Given the description of an element on the screen output the (x, y) to click on. 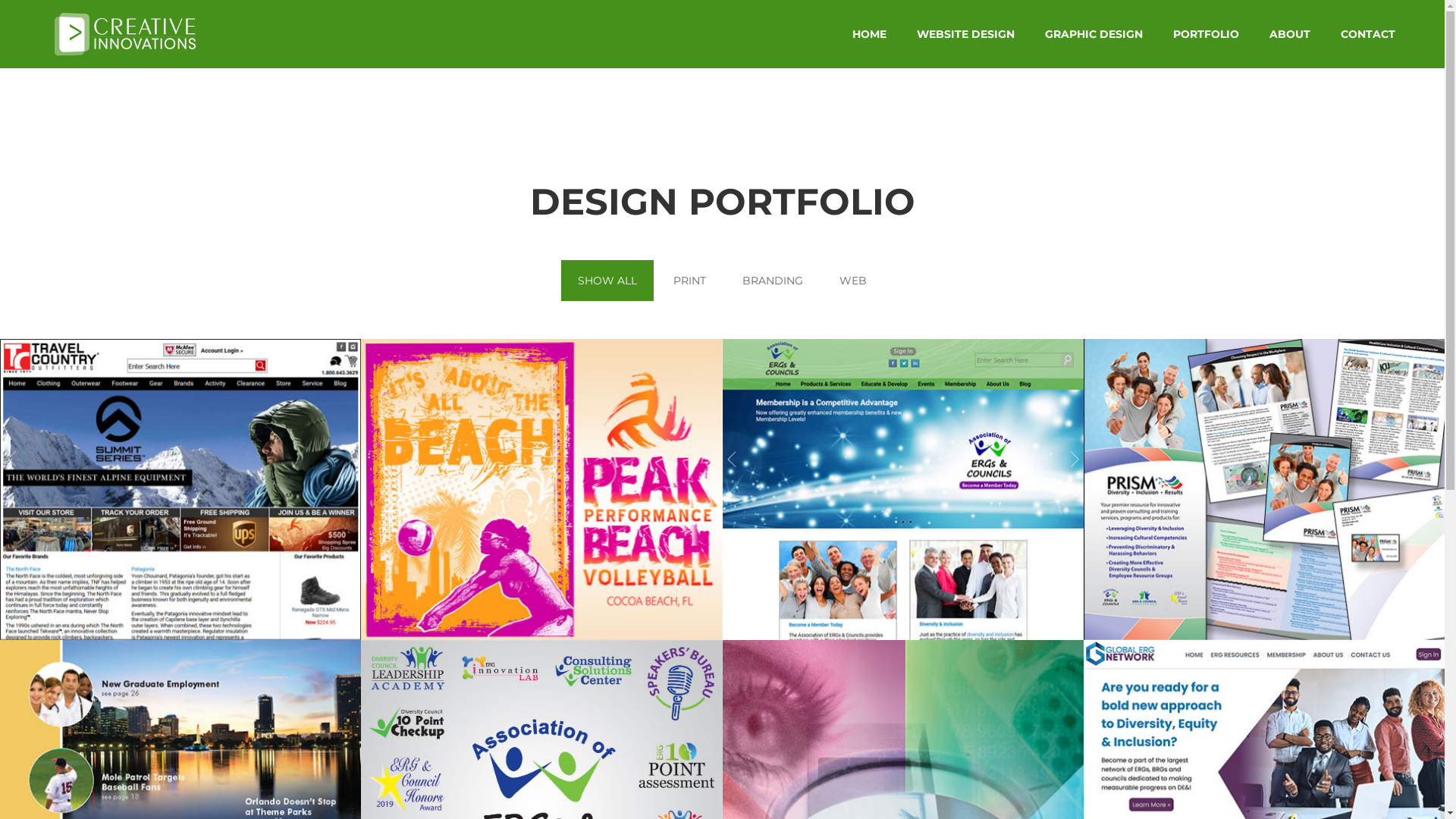
ABOUT Element type: text (1289, 34)
PRINT Element type: text (689, 280)
WEBSITE DESIGN Element type: text (965, 34)
PORTFOLIO Element type: text (1205, 34)
HOME Element type: text (868, 34)
CONTACT Element type: text (1367, 34)
BRANDING Element type: text (772, 280)
WEB Element type: text (852, 280)
GRAPHIC DESIGN Element type: text (1093, 34)
SHOW ALL Element type: text (607, 280)
